Given the description of an element on the screen output the (x, y) to click on. 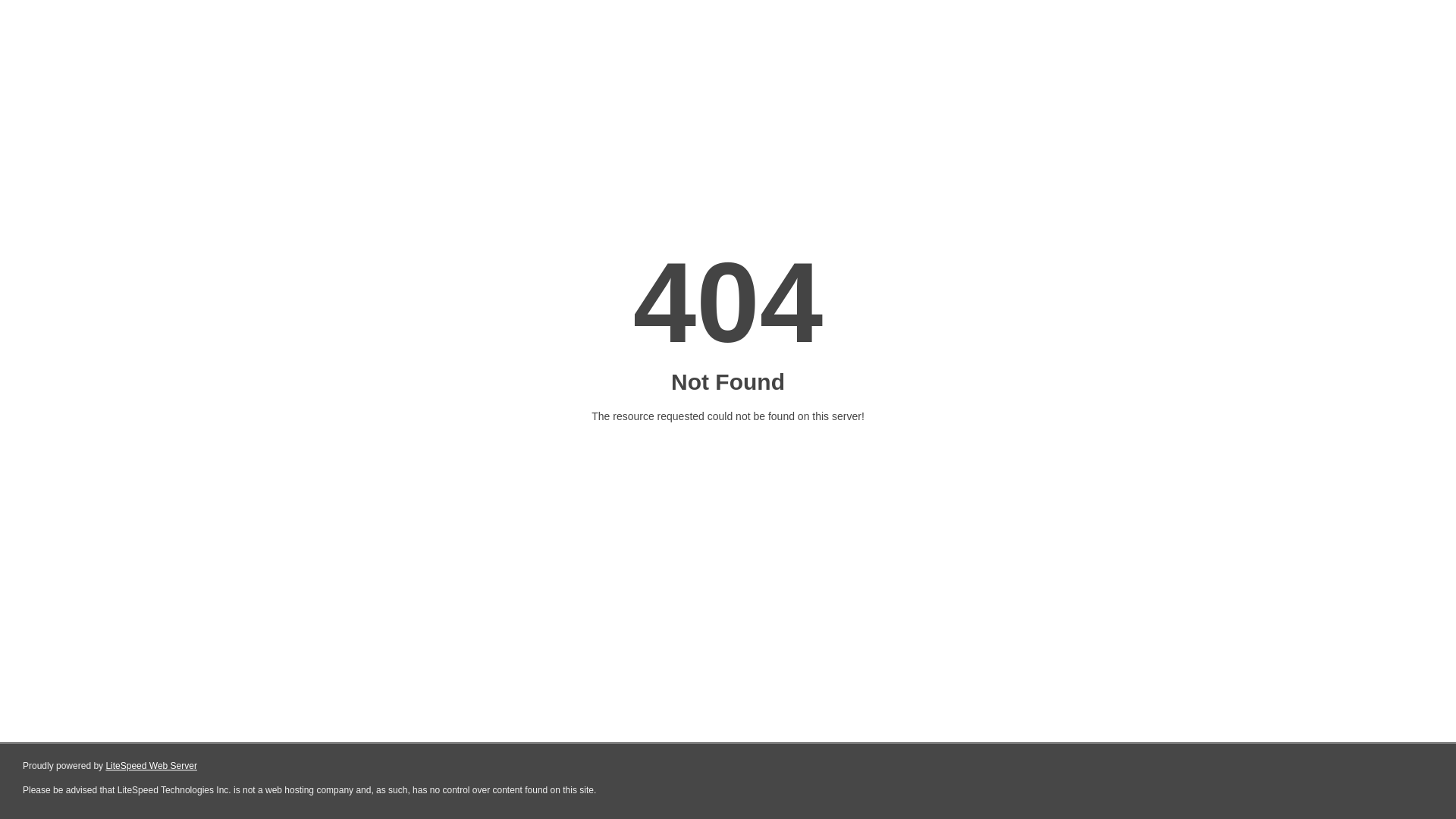
LiteSpeed Web Server Element type: text (151, 765)
